Given the description of an element on the screen output the (x, y) to click on. 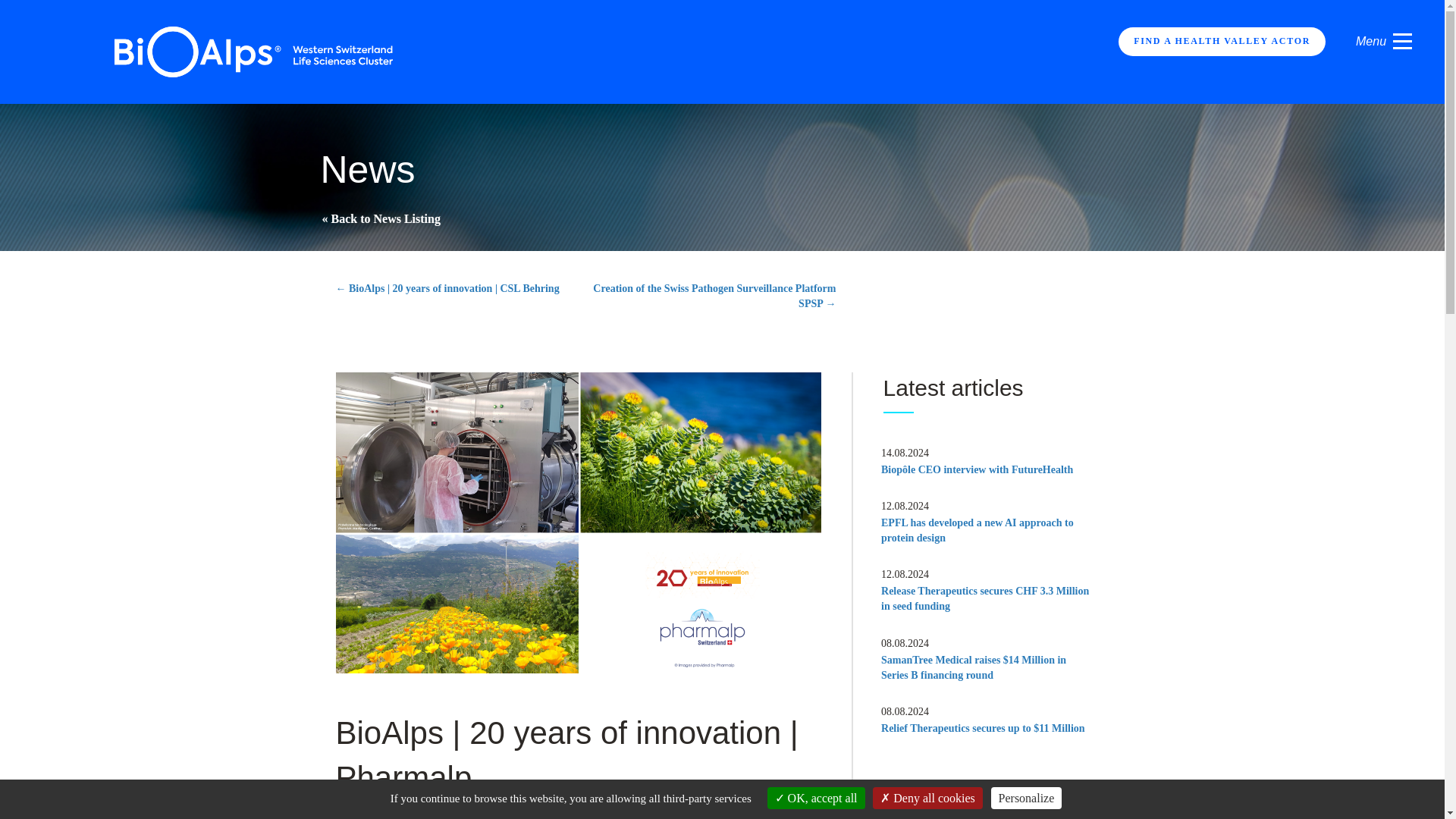
Release Therapeutics secures CHF 3.3 Million in seed funding (984, 598)
EPFL has developed a new AI approach to protein design (977, 529)
Bio Alps (254, 50)
FIND A HEALTH VALLEY ACTOR (1221, 41)
